Given the description of an element on the screen output the (x, y) to click on. 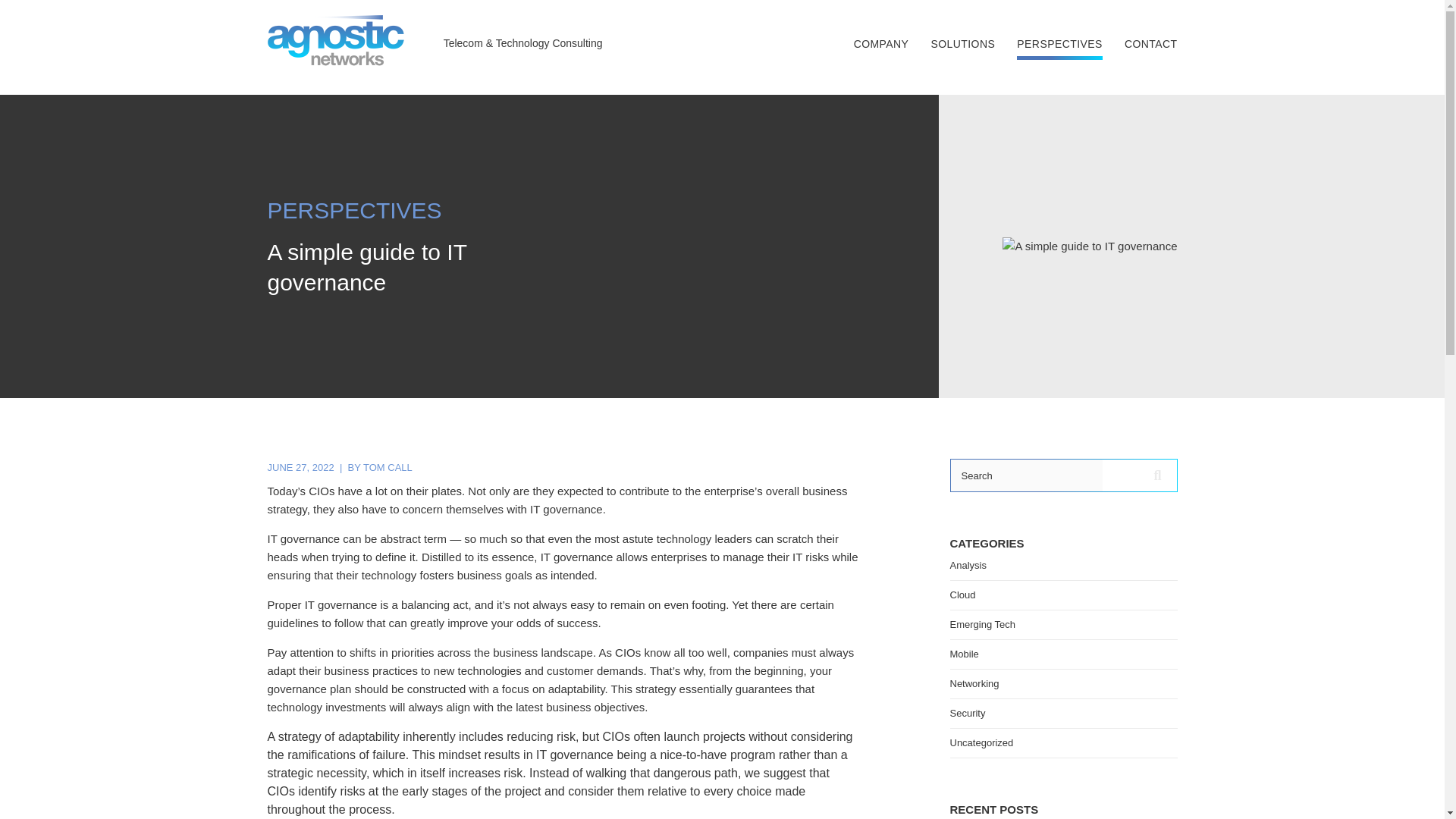
Mobile (963, 654)
Emerging Tech (981, 624)
Analysis (967, 564)
Search (1026, 475)
COMPANY (880, 43)
Cloud (962, 594)
CONTACT (1150, 43)
PERSPECTIVES (1059, 48)
SOLUTIONS (962, 43)
Search (1026, 475)
Security (967, 713)
TOM CALL (387, 467)
Posts by Tom Call (387, 467)
Networking (973, 683)
Uncategorized (981, 742)
